Given the description of an element on the screen output the (x, y) to click on. 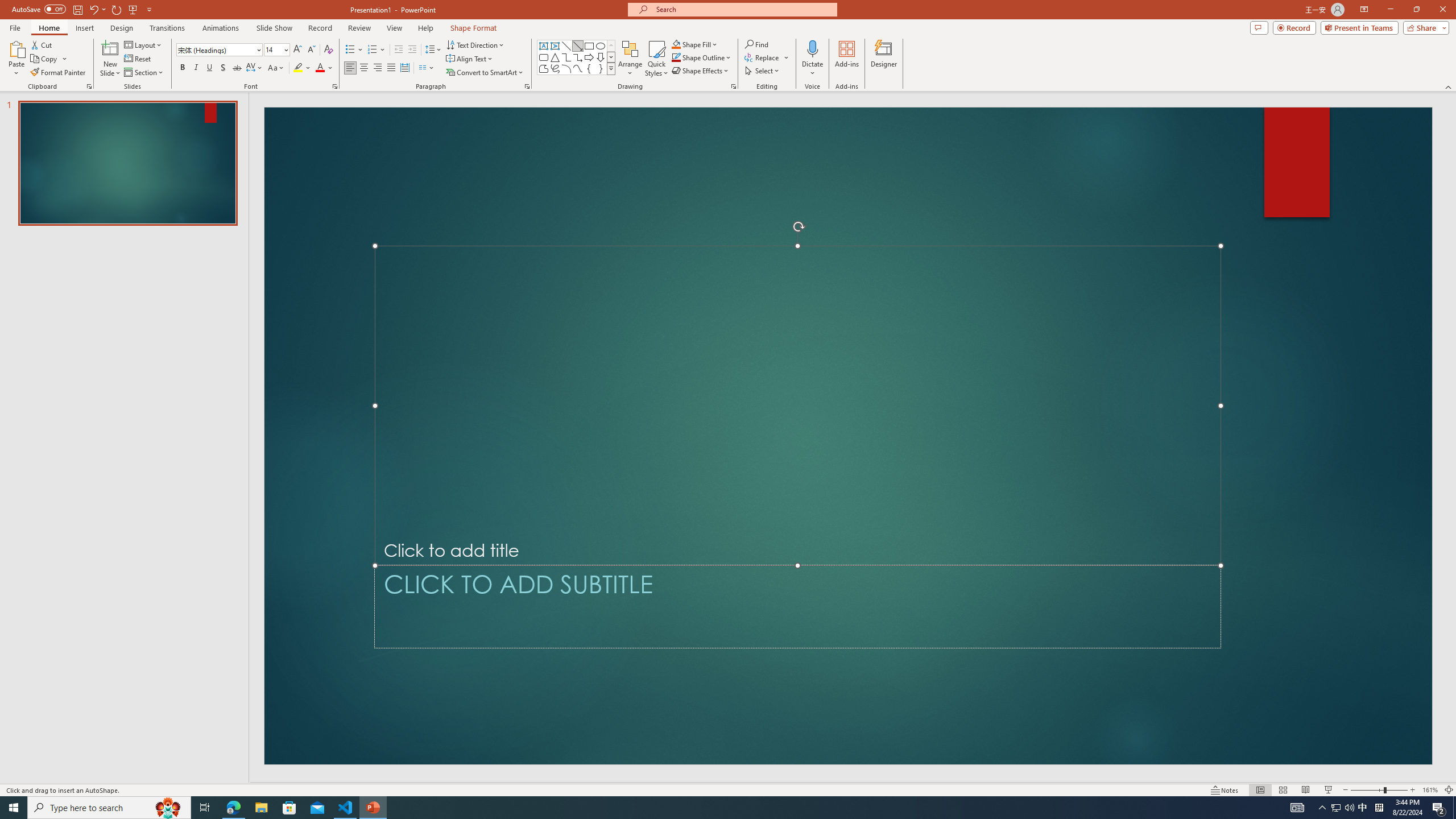
Zoom 161% (1430, 790)
